Given the description of an element on the screen output the (x, y) to click on. 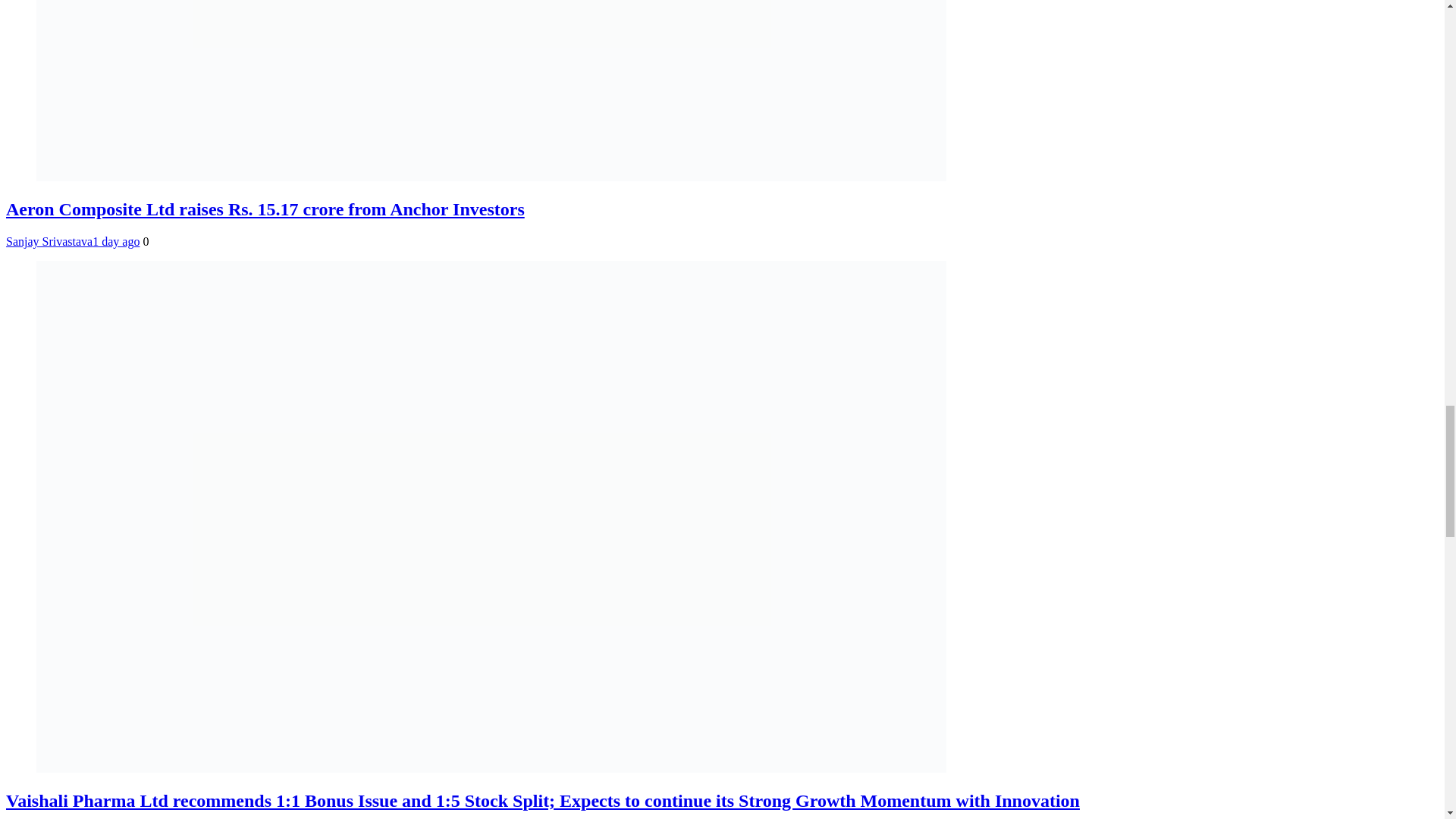
Sanjay Srivastava (49, 241)
1 day ago (116, 241)
